Given the description of an element on the screen output the (x, y) to click on. 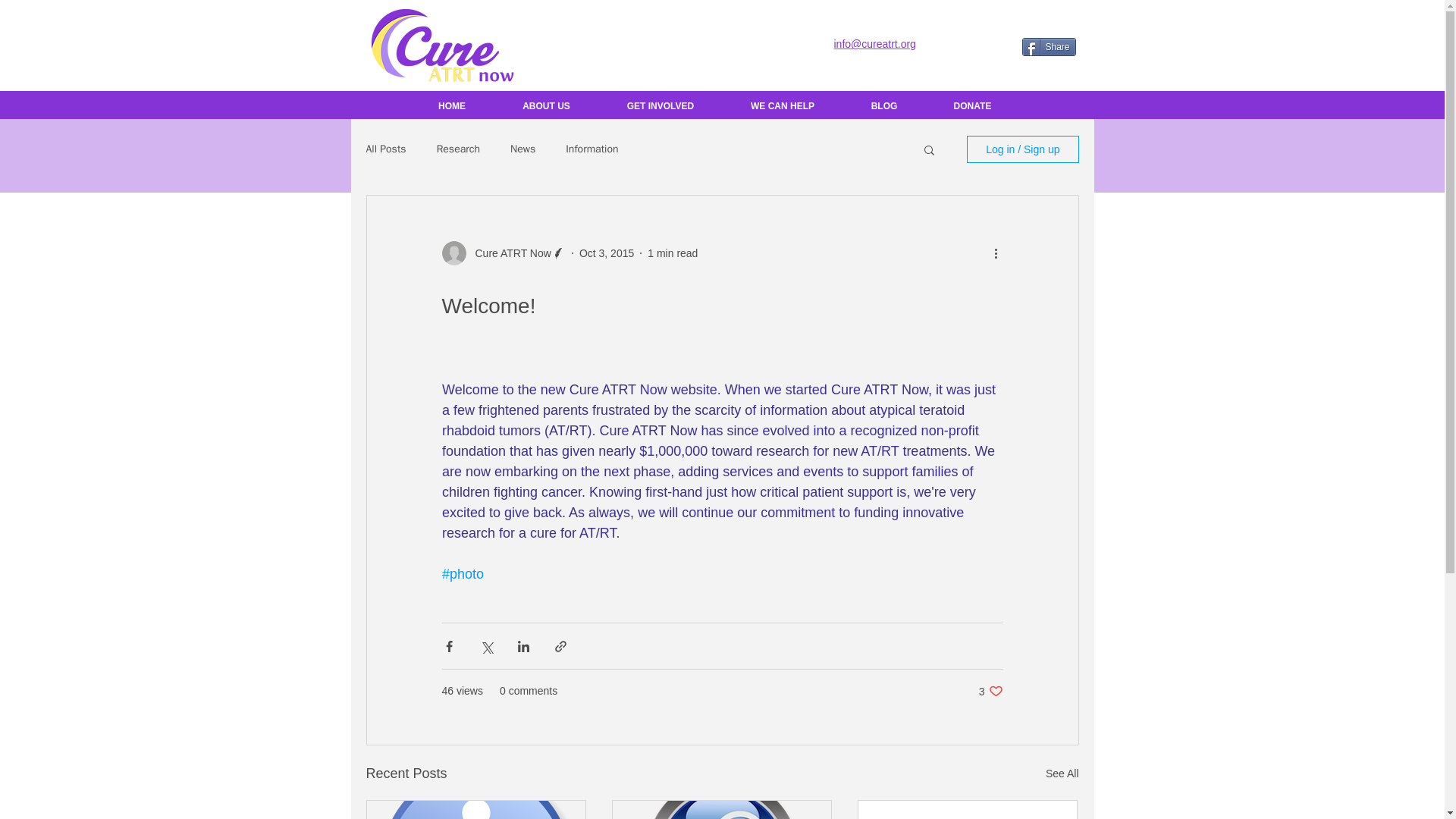
Share (1048, 46)
Share (1048, 46)
ABOUT US (546, 105)
BLOG (884, 105)
GET INVOLVED (990, 690)
Twitter Tweet (660, 105)
Cure ATRT Now (982, 46)
News (507, 253)
WE CAN HELP (523, 149)
